Given the description of an element on the screen output the (x, y) to click on. 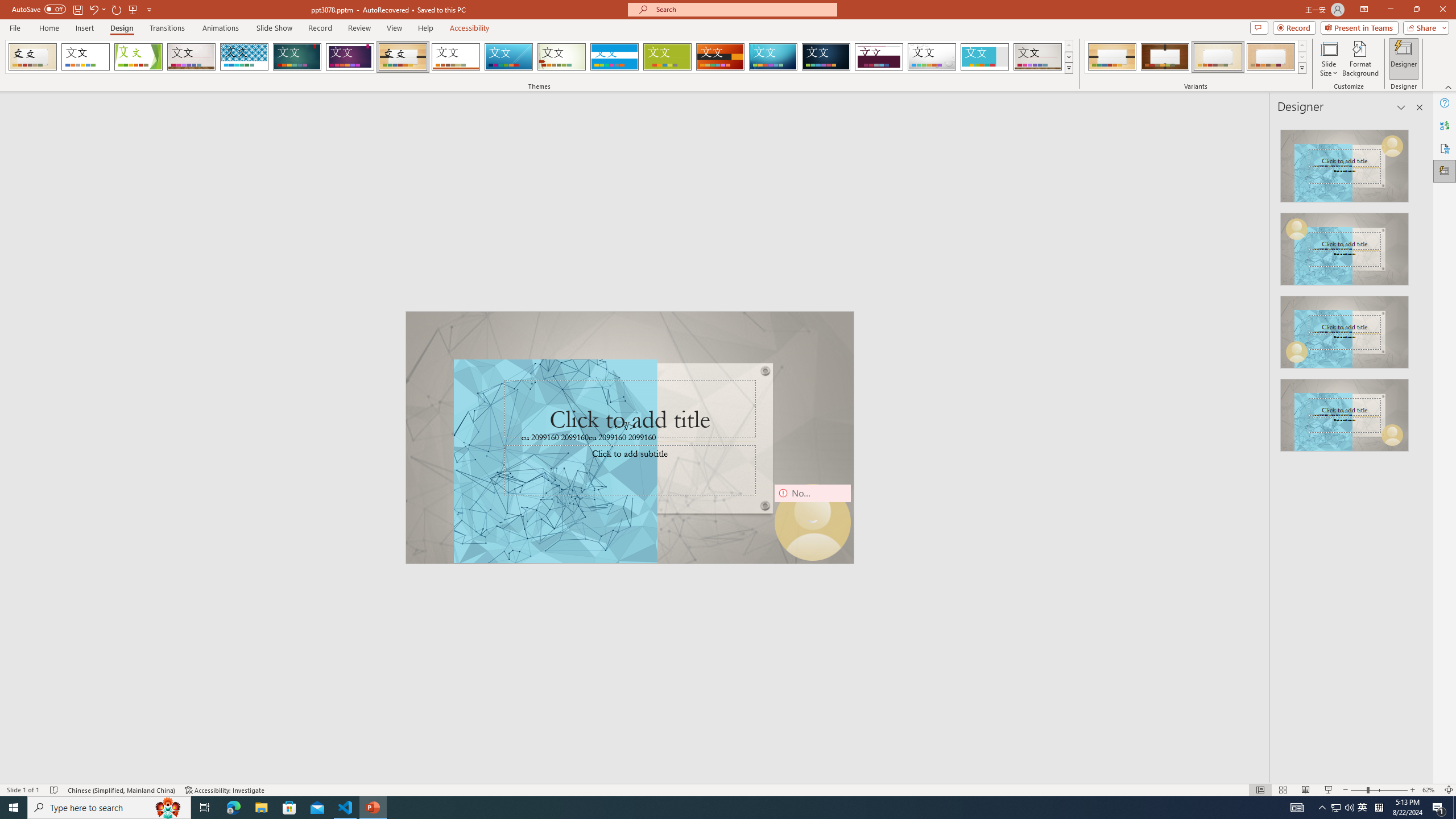
Ion (296, 56)
Camera 9, No camera detected. (812, 522)
AutomationID: SlideThemesGallery (539, 56)
Recommended Design: Design Idea (1344, 162)
Organic Variant 3 (1217, 56)
